Given the description of an element on the screen output the (x, y) to click on. 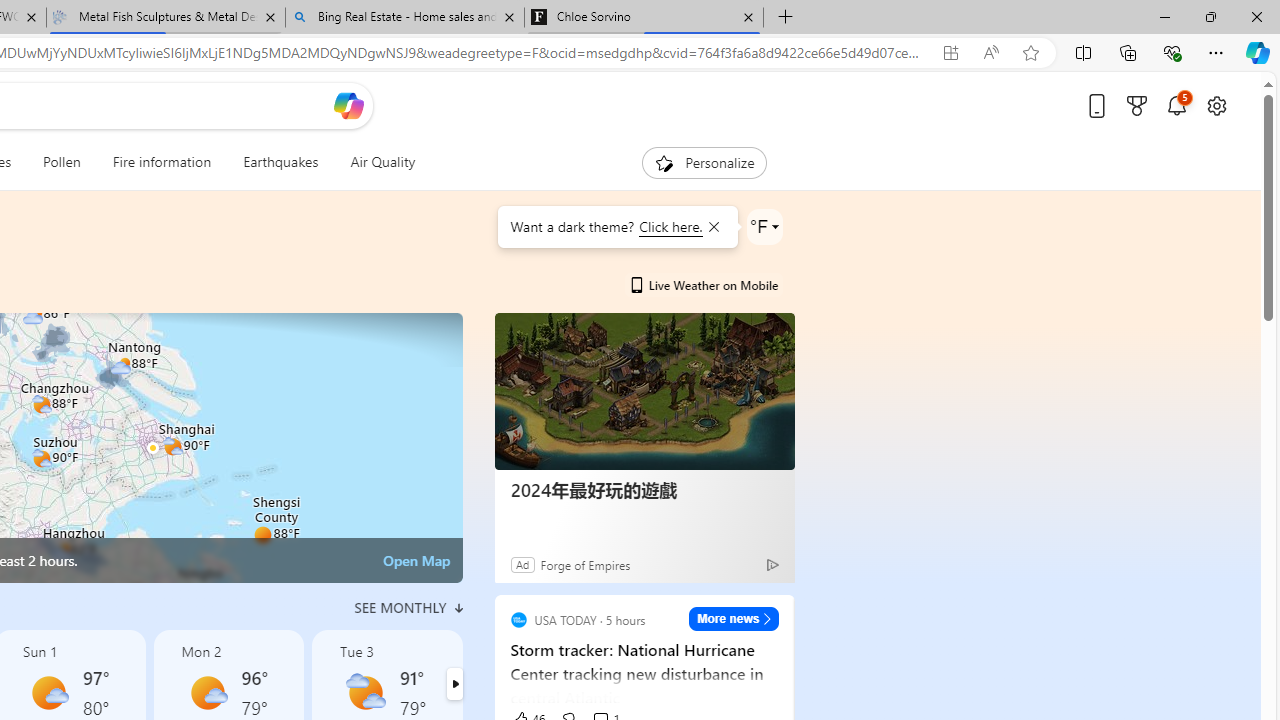
Collections (1128, 52)
Fire information (162, 162)
Close (1256, 16)
Add this page to favorites (Ctrl+D) (1030, 53)
Weather settings Want a dark theme?Click here. (764, 226)
Settings and more (Alt+F) (1215, 52)
Bing Real Estate - Home sales and rental listings (404, 17)
Forge of Empires (584, 564)
Open Copilot (347, 105)
Fire information (161, 162)
Air Quality (375, 162)
Ad (521, 564)
Open settings (1216, 105)
